Given the description of an element on the screen output the (x, y) to click on. 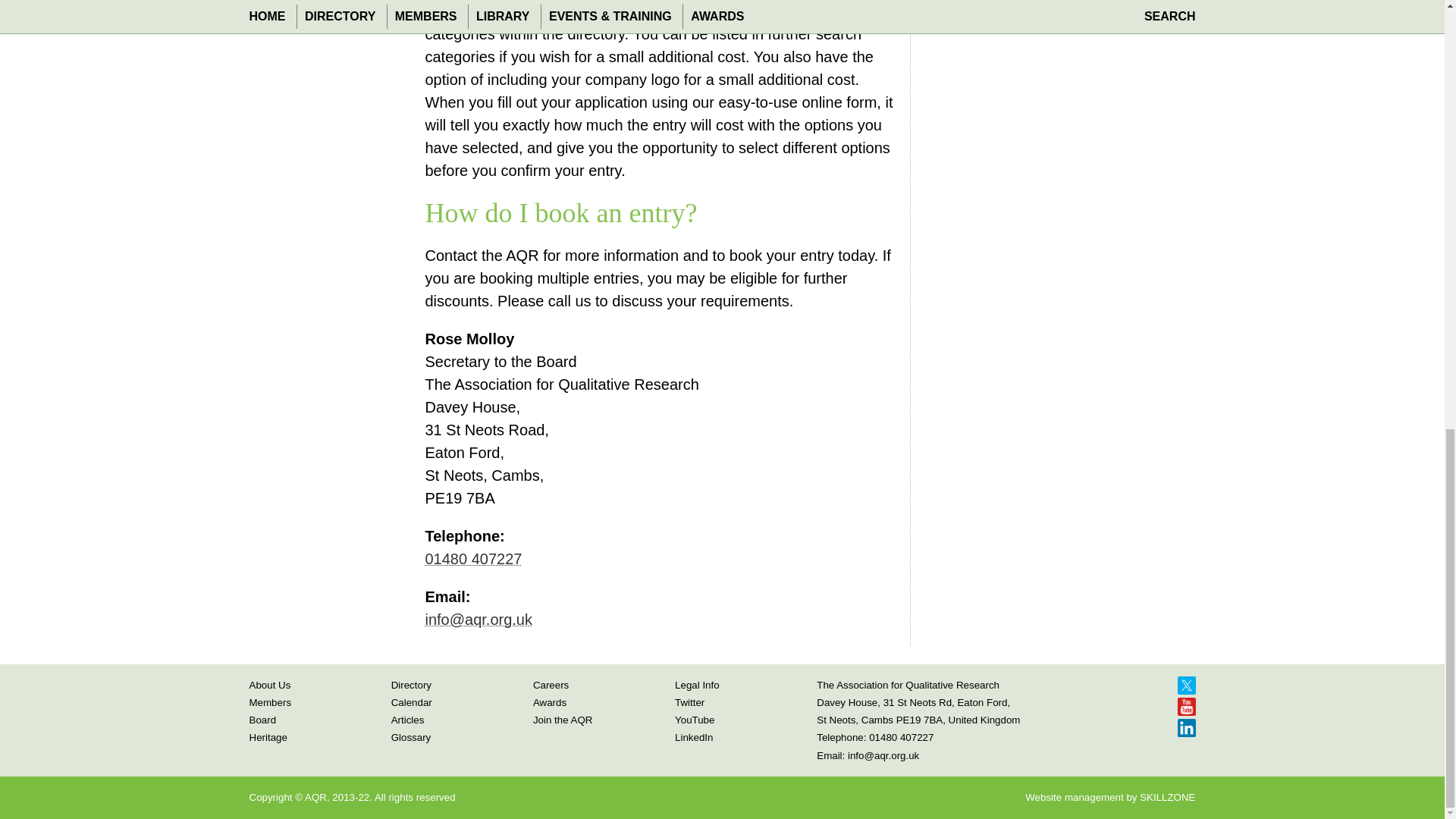
About Us (268, 684)
Calendar (411, 702)
Glossary (410, 737)
Heritage (267, 737)
Articles (408, 719)
01480 407227 (473, 557)
Board (262, 719)
Members (269, 702)
Directory (410, 684)
